Given the description of an element on the screen output the (x, y) to click on. 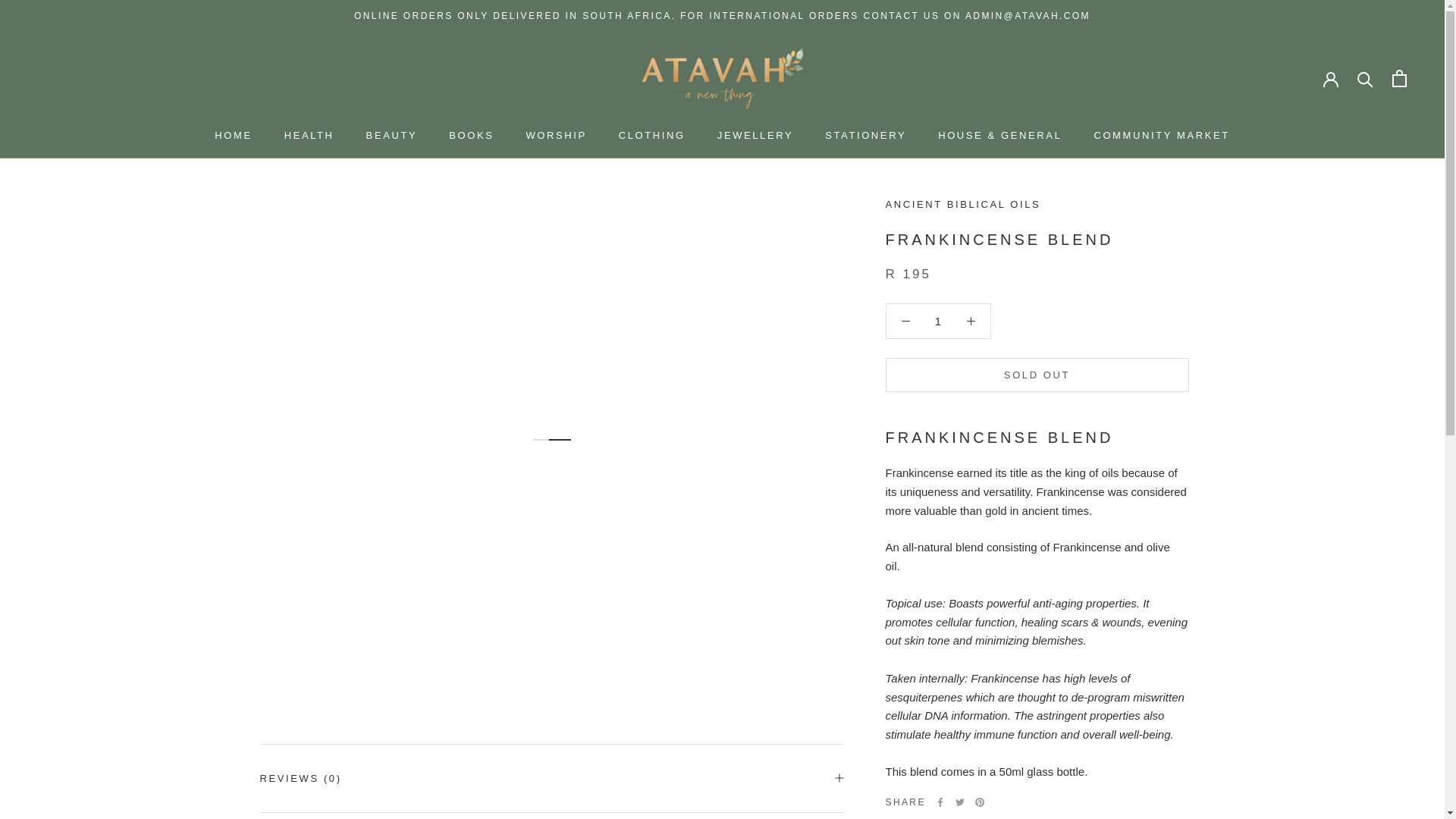
1 (938, 320)
